Given the description of an element on the screen output the (x, y) to click on. 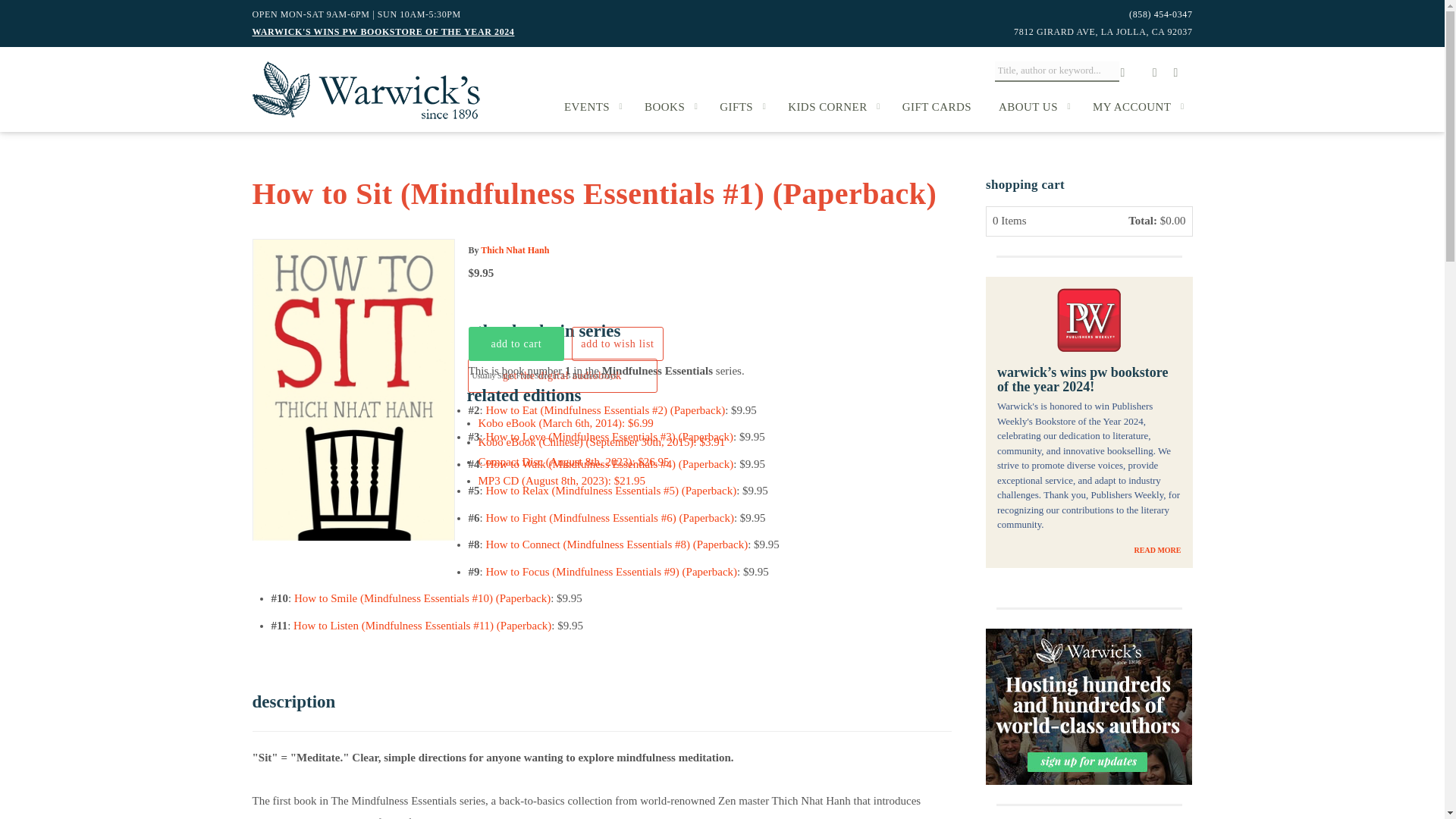
KIDS CORNER (831, 106)
Get the Digital Audiobook (561, 375)
BOOKS (668, 106)
Add to Cart (516, 343)
EVENTS (590, 106)
Title, author or keyword... (1056, 71)
GIFT CARDS (936, 106)
WARWICK'S WINS PW BOOKSTORE OF THE YEAR 2024 (382, 31)
GIFTS (740, 106)
